Given the description of an element on the screen output the (x, y) to click on. 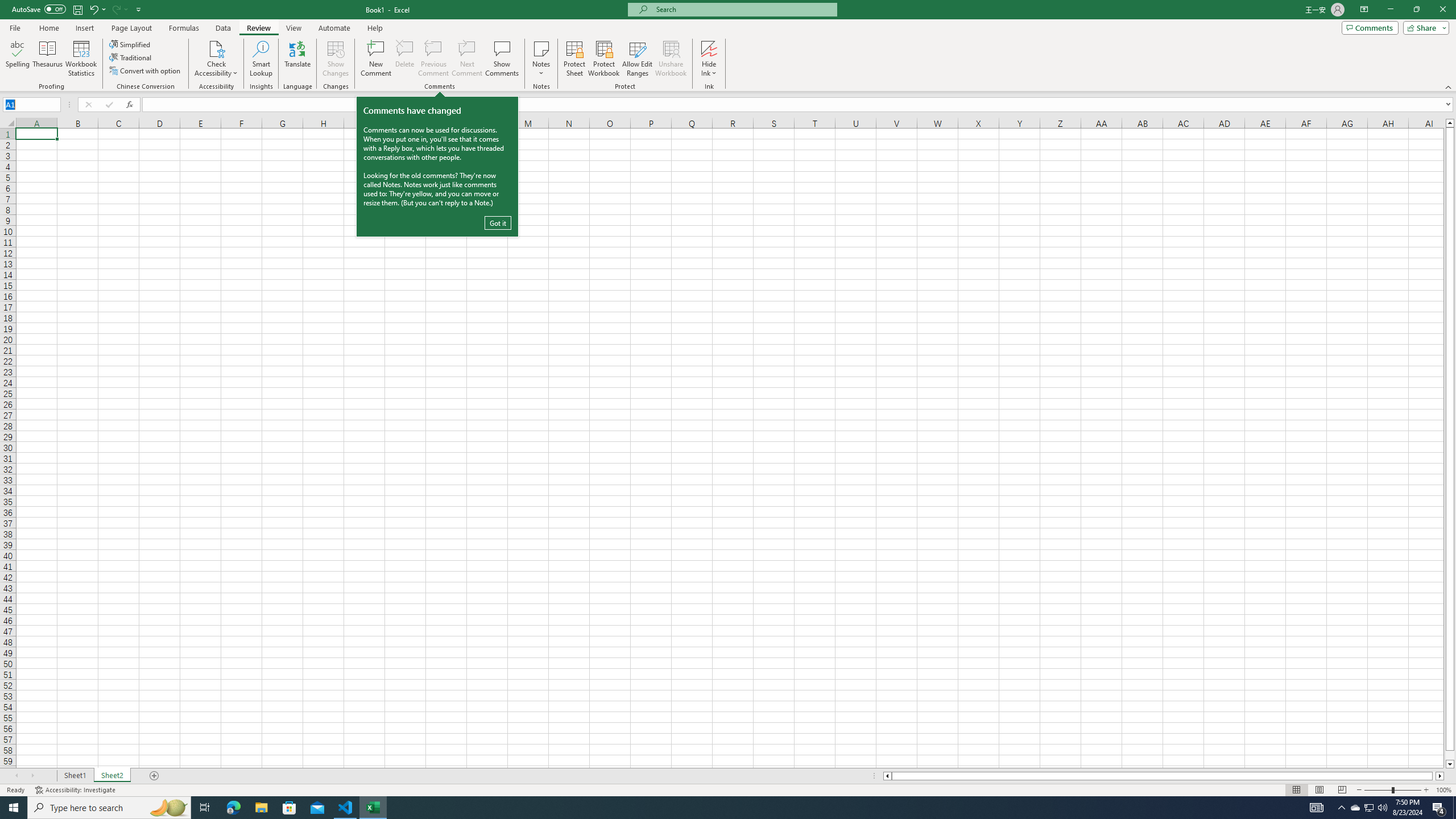
Simplified (130, 44)
Formula Bar (799, 104)
Accessibility Checker Accessibility: Investigate (76, 790)
Got it (497, 223)
Hide Ink (708, 58)
Previous Comment (432, 58)
